Given the description of an element on the screen output the (x, y) to click on. 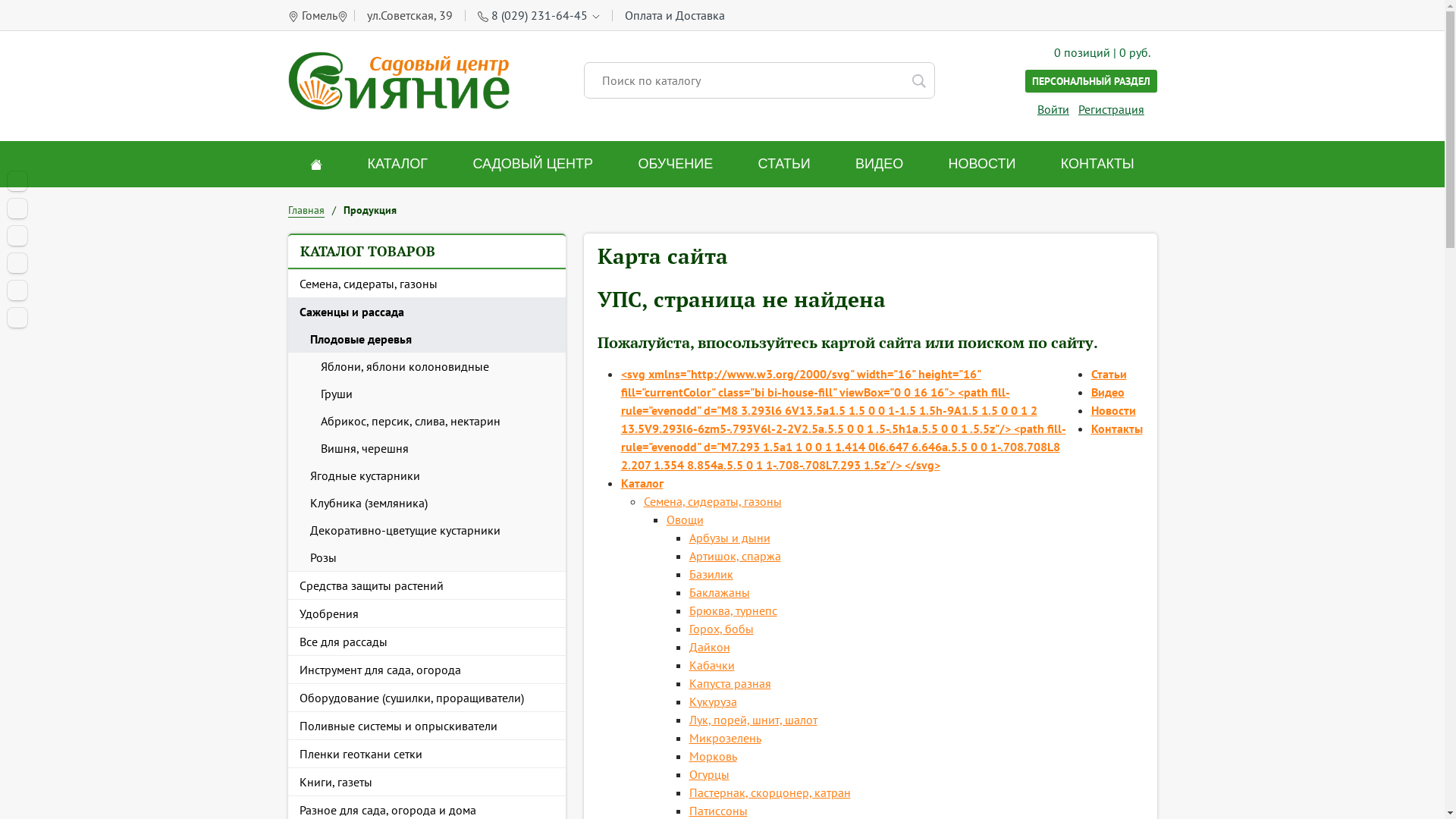
8 (029) 231-64-45 Element type: text (539, 14)
